Given the description of an element on the screen output the (x, y) to click on. 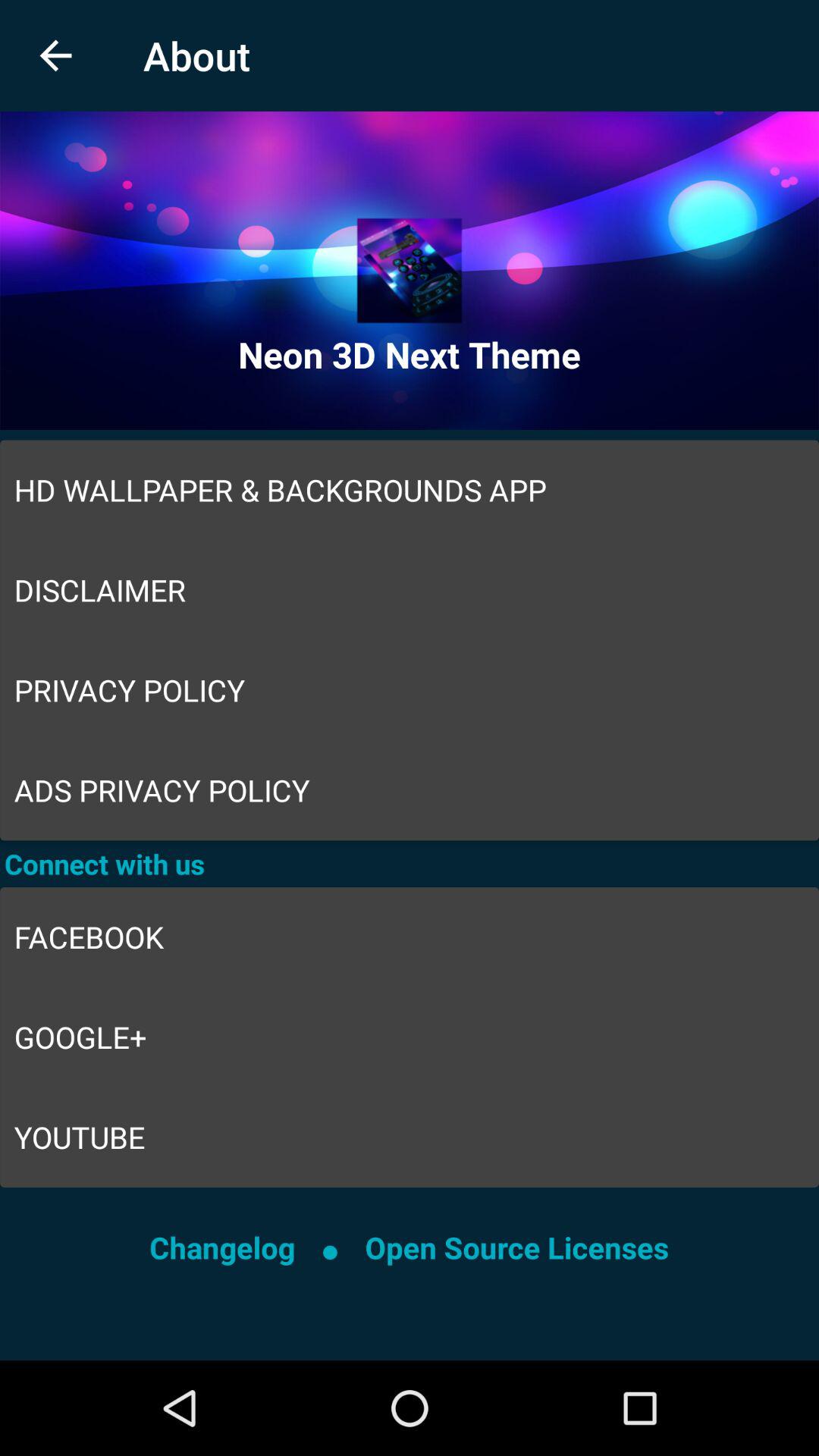
click icon above the changelog item (409, 1137)
